Given the description of an element on the screen output the (x, y) to click on. 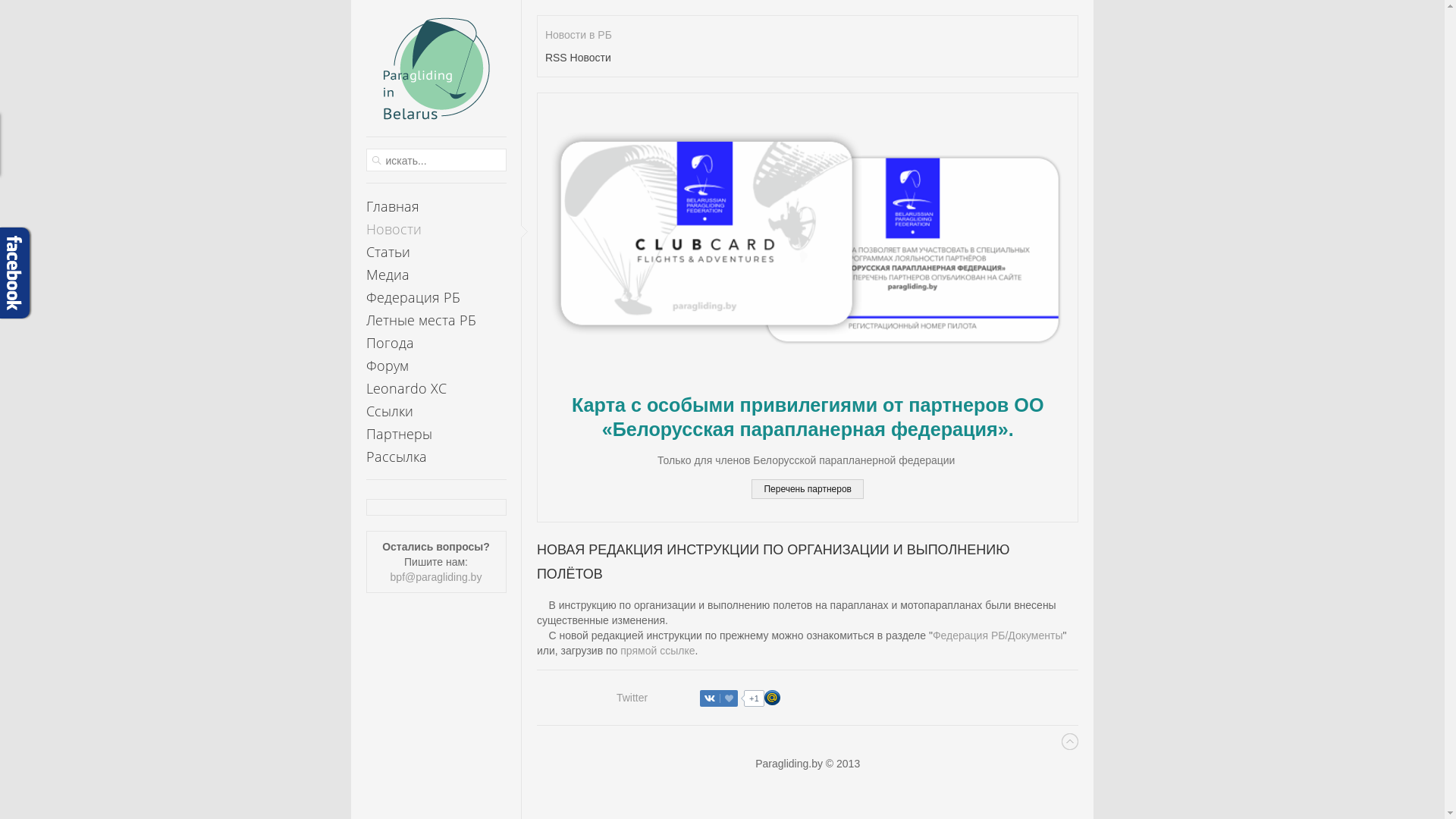
Leonardo XC Element type: text (435, 387)
Reset Element type: text (3, 3)
  Element type: text (435, 76)
Twitter Element type: text (631, 697)
bpf@paragliding.by Element type: text (436, 577)
